Given the description of an element on the screen output the (x, y) to click on. 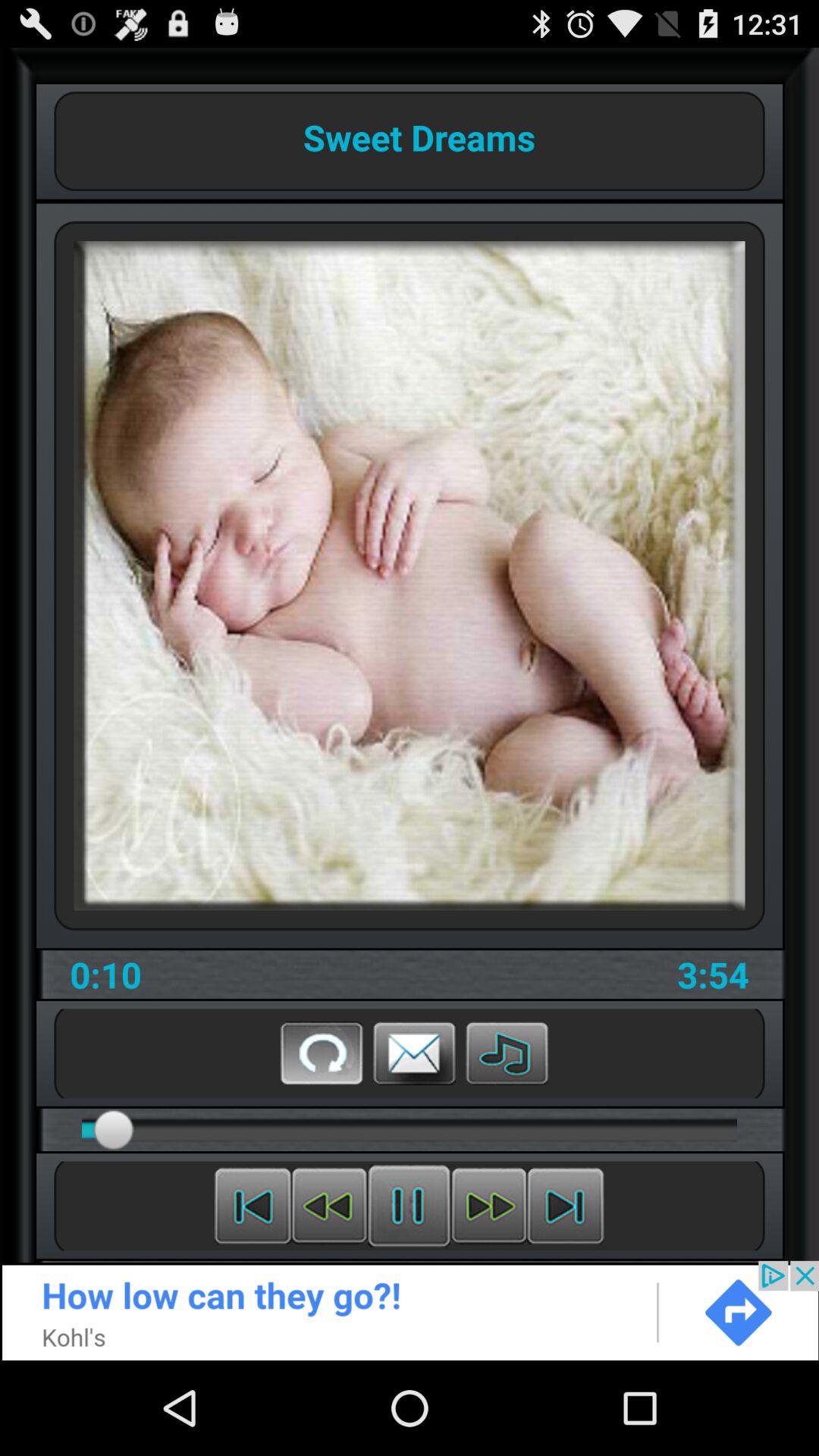
backword to option (252, 1205)
